Given the description of an element on the screen output the (x, y) to click on. 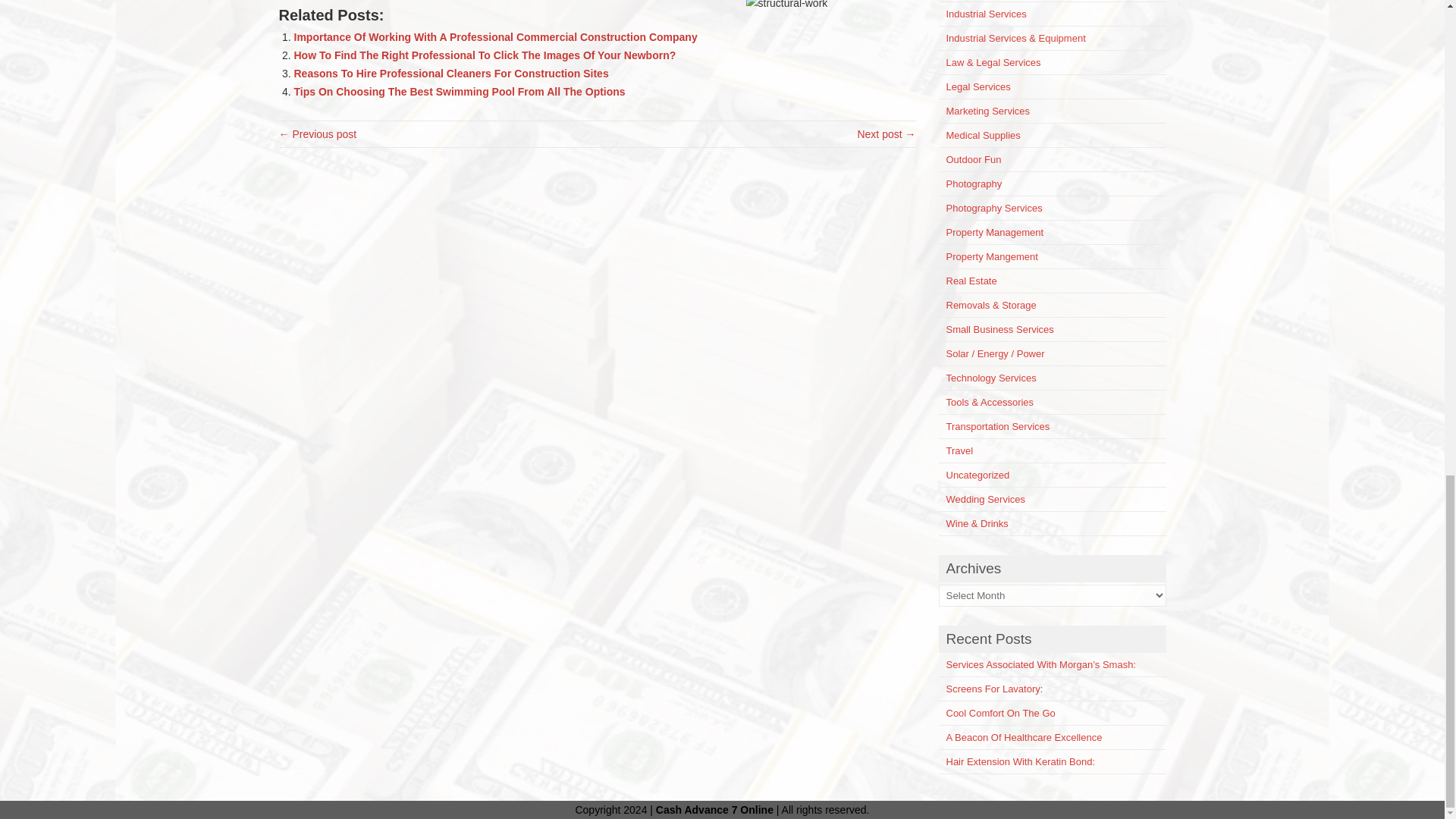
Reasons To Hire Professional Cleaners For Construction Sites (451, 73)
Tips On Choosing The Best Swimming Pool From All The Options (460, 91)
Reasons To Hire Professional Cleaners For Construction Sites (451, 73)
Ways To Make Your Home Energy Efficient (317, 133)
Marketing Services (988, 111)
Legal Services (978, 86)
Industrial Services (986, 13)
Tips On Choosing The Best Swimming Pool From All The Options (460, 91)
